Given the description of an element on the screen output the (x, y) to click on. 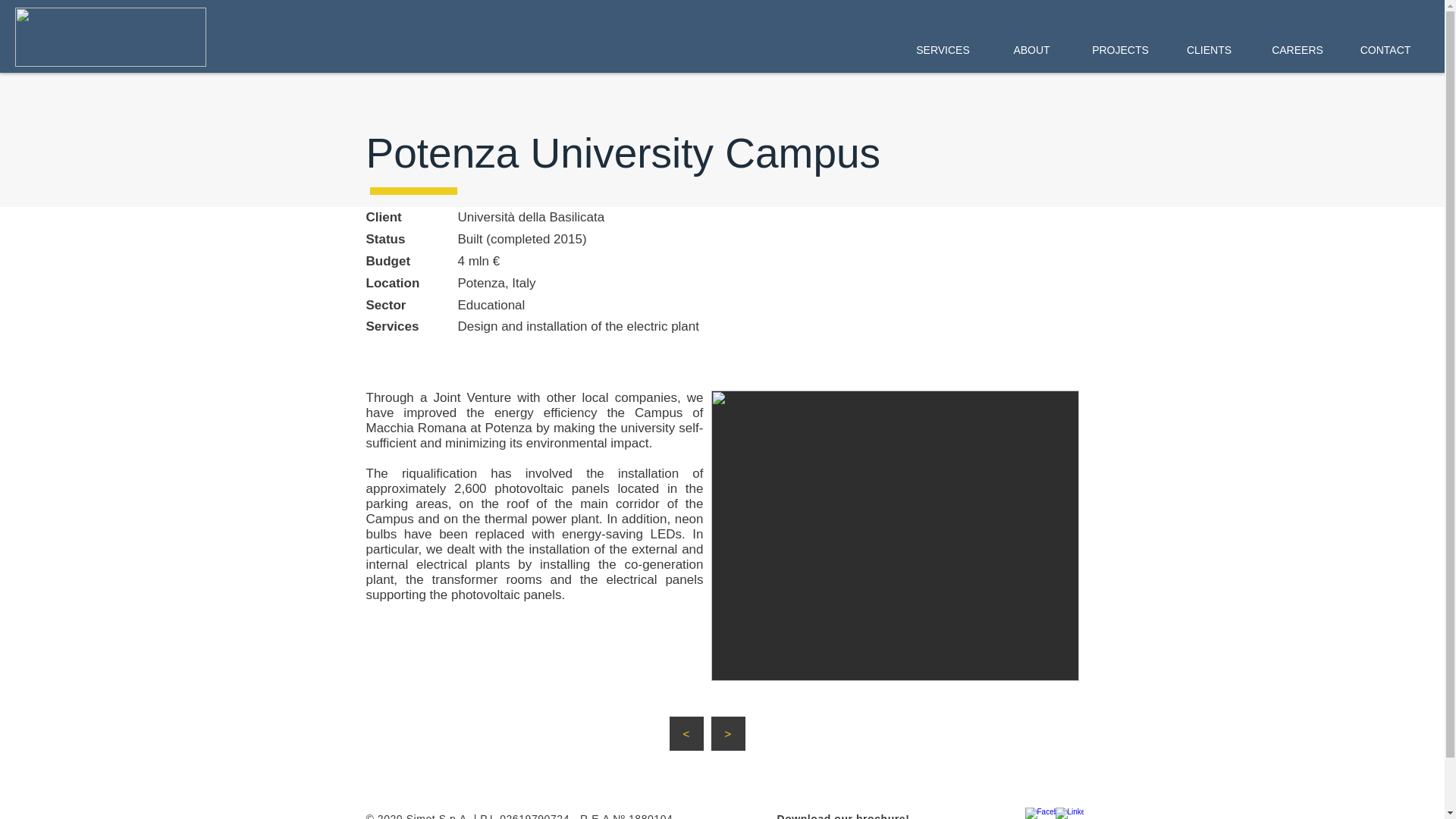
CAREERS (1296, 50)
SERVICES (942, 50)
PROJECTS (1119, 50)
CONTACT (1384, 50)
ABOUT (1031, 50)
Download our brochure! (842, 816)
CLIENTS (1208, 50)
